Given the description of an element on the screen output the (x, y) to click on. 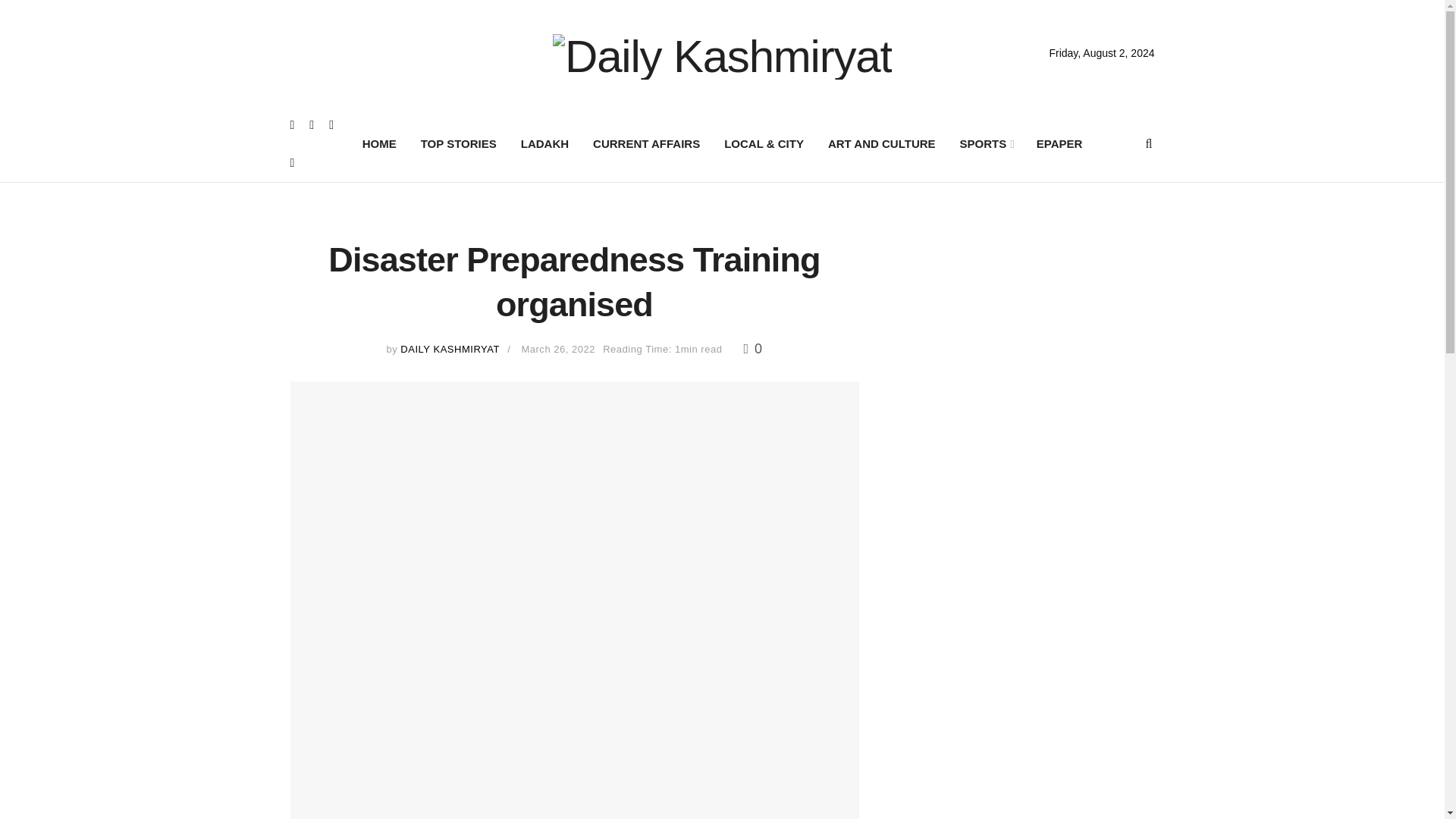
CURRENT AFFAIRS (645, 143)
SPORTS (986, 143)
LADAKH (544, 143)
TOP STORIES (458, 143)
HOME (379, 143)
EPAPER (1059, 143)
ART AND CULTURE (881, 143)
